Given the description of an element on the screen output the (x, y) to click on. 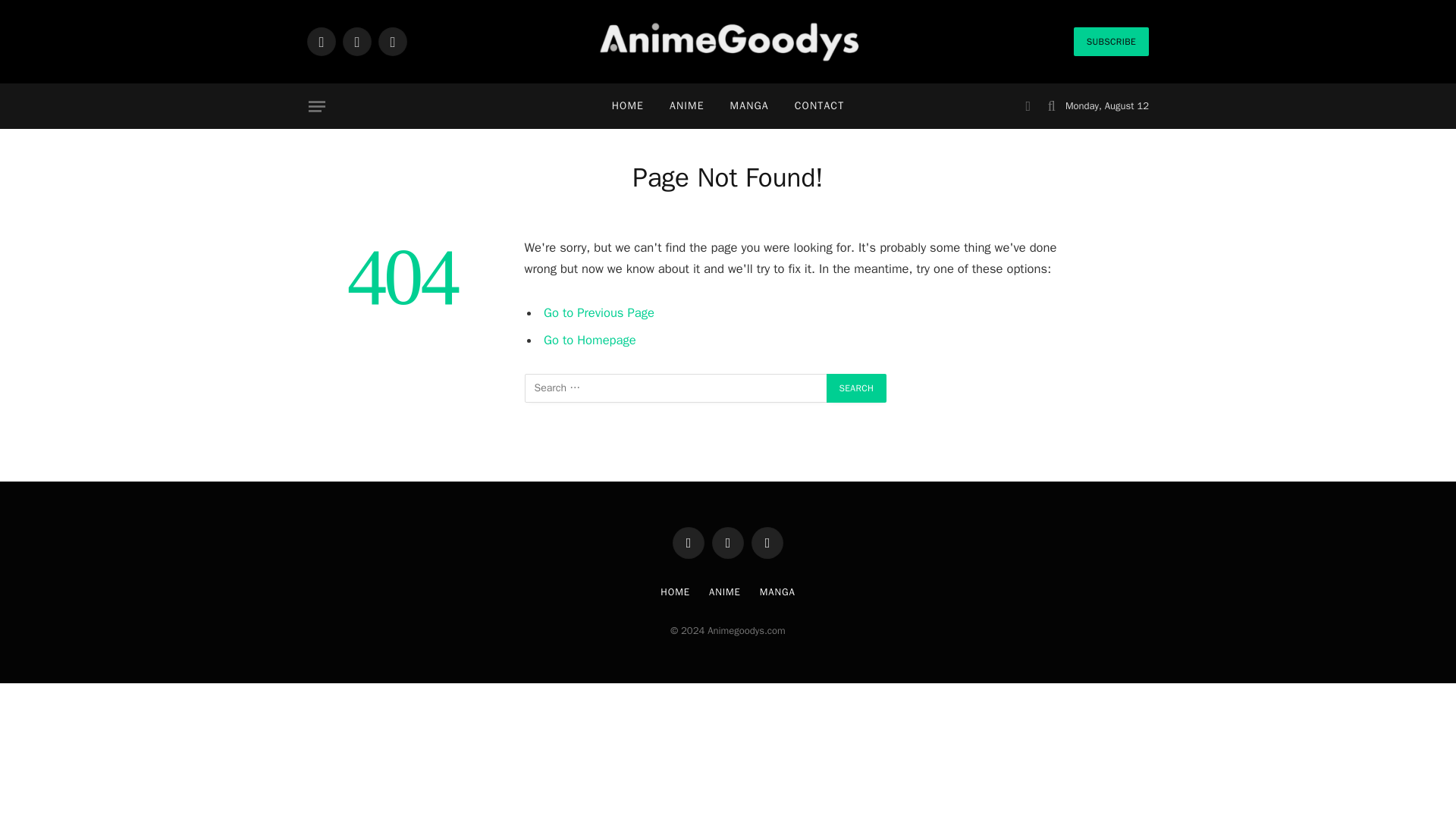
Instagram (392, 41)
Facebook (688, 542)
Switch to Dark Design - easier on eyes. (1027, 106)
HOME (675, 591)
ANIME (725, 591)
Go to Previous Page (598, 312)
Search (856, 387)
Animegoodys.com (728, 41)
MANGA (749, 105)
Search (856, 387)
